Given the description of an element on the screen output the (x, y) to click on. 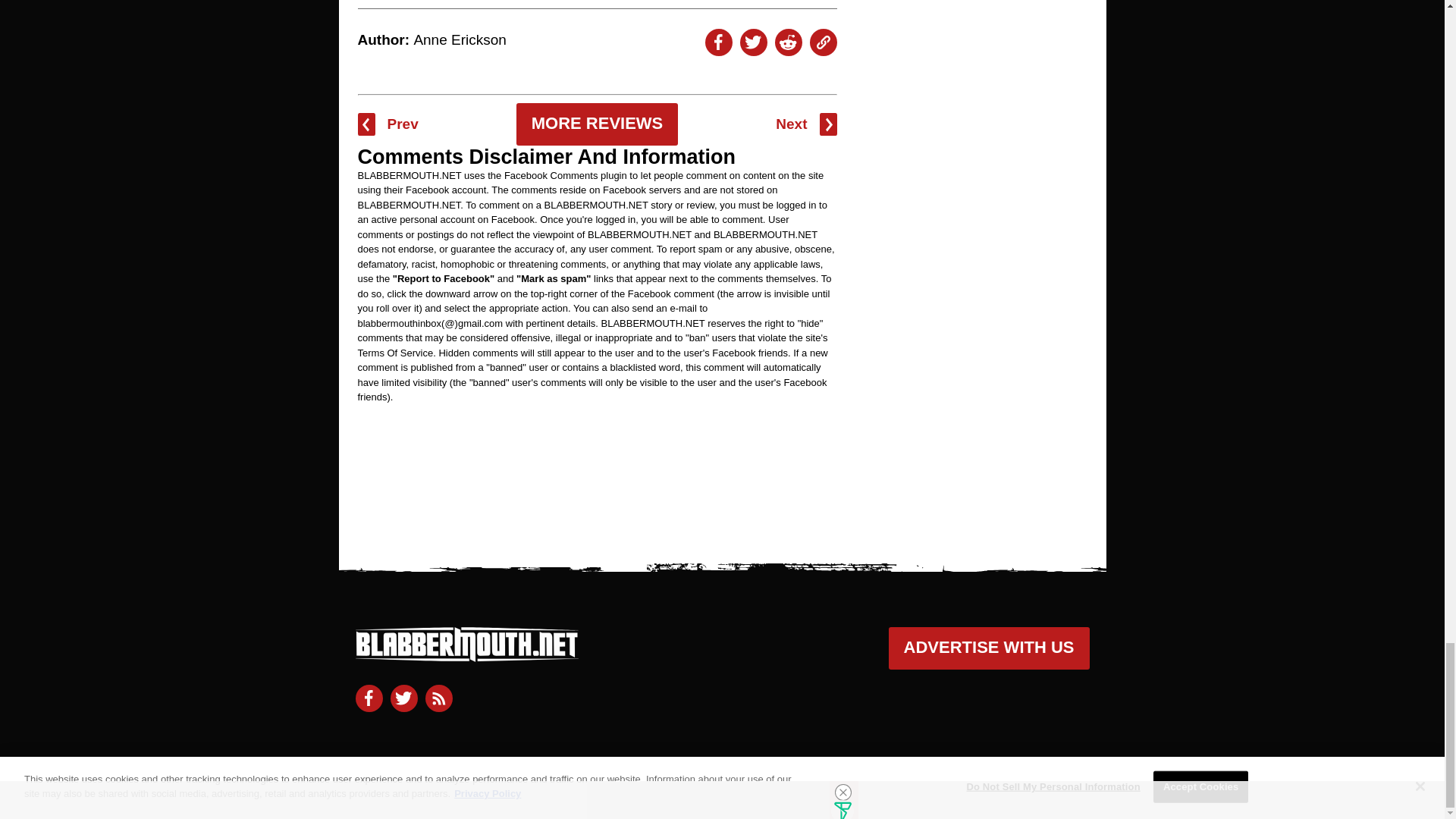
MORE REVIEWS (597, 123)
blabbermouth (466, 655)
Prev (388, 124)
Copy To Clipboard (823, 42)
Next (805, 124)
Share On Reddit (788, 42)
Share On Facebook (718, 42)
Share On Twitter (753, 42)
